Given the description of an element on the screen output the (x, y) to click on. 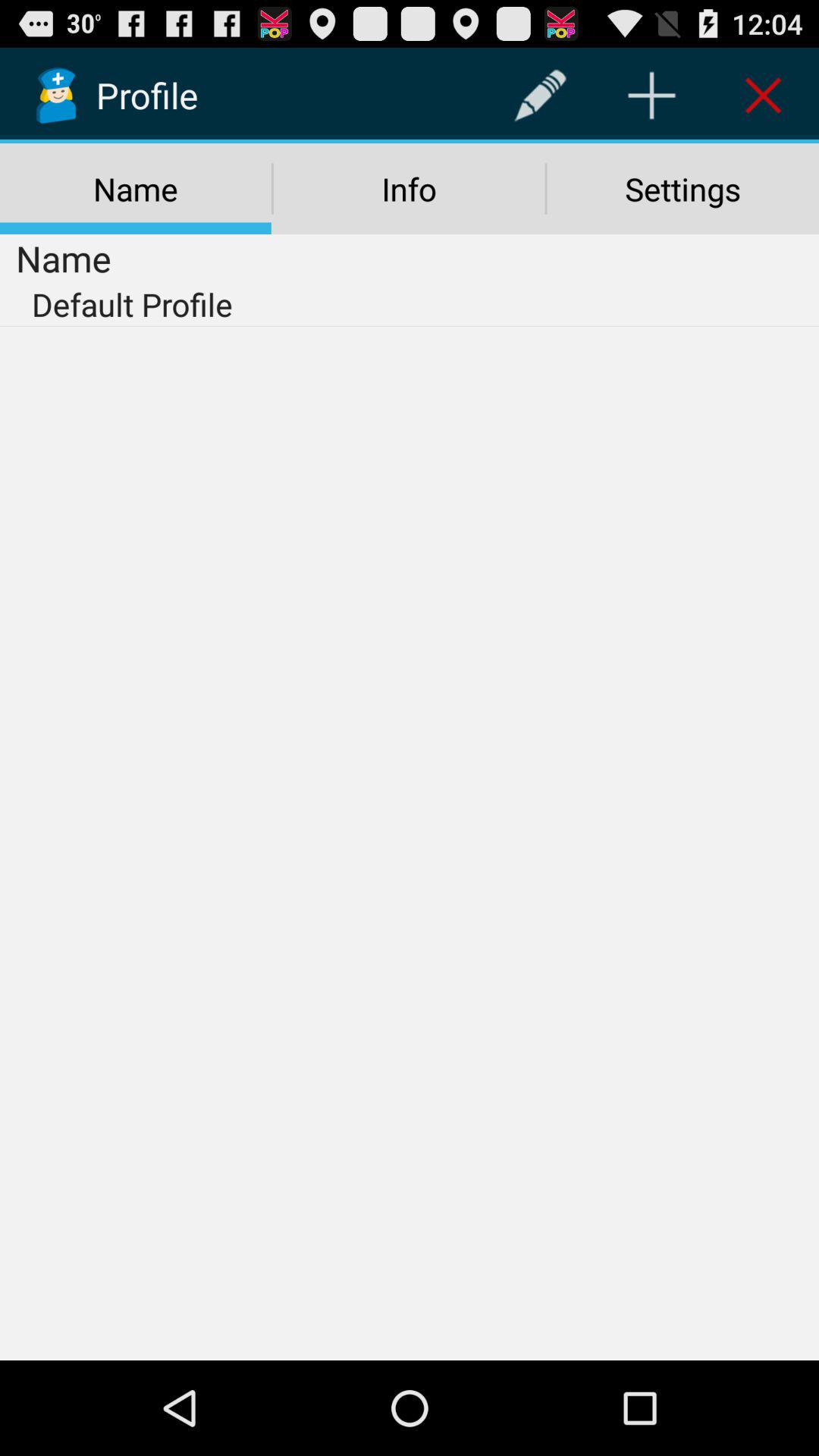
turn off the item next to settings icon (408, 188)
